Given the description of an element on the screen output the (x, y) to click on. 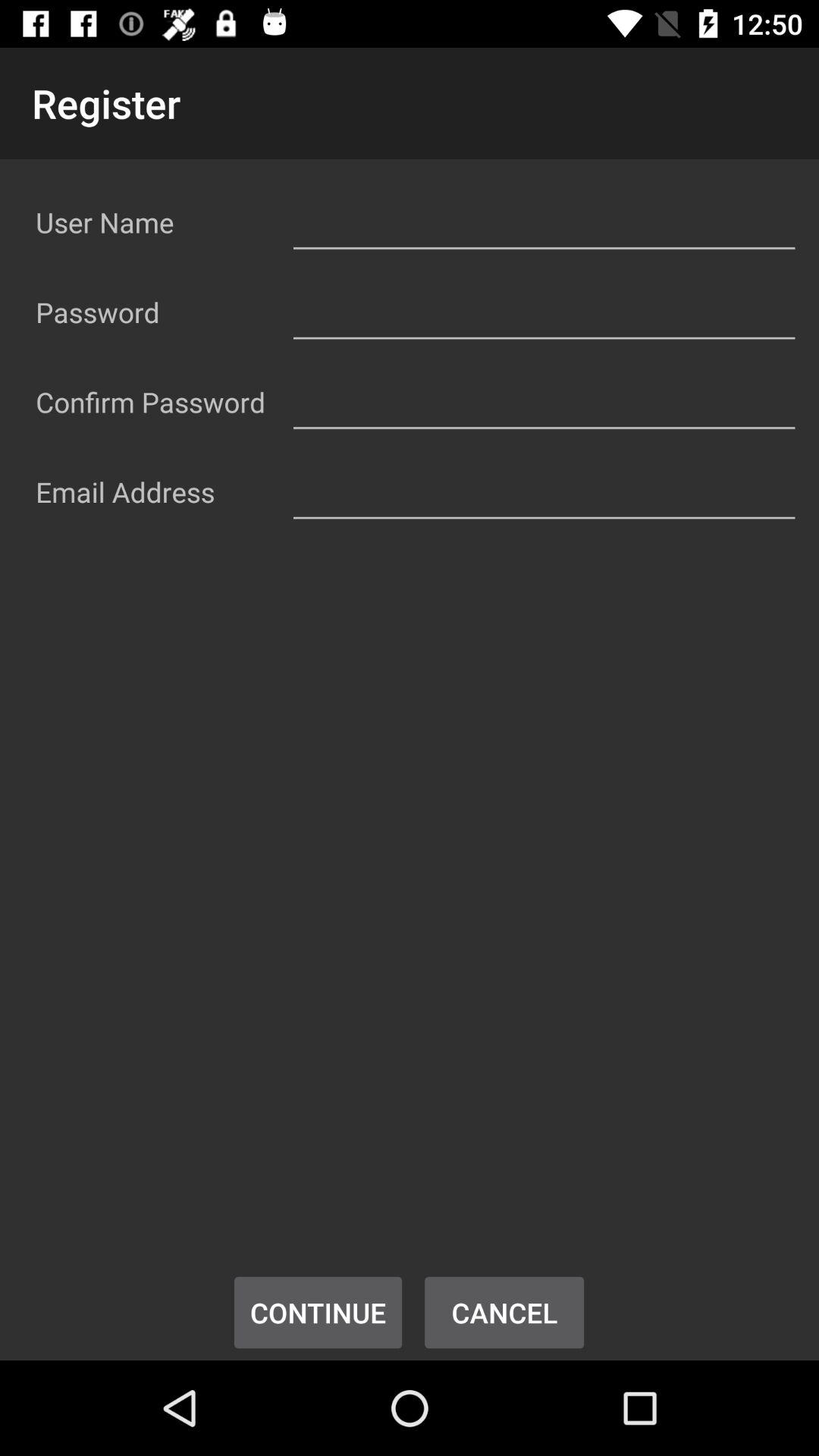
tap on the cancel button that is right to continue button (504, 1312)
click on the text field which is next to the password (544, 309)
click on the field next to user name (544, 219)
